Given the description of an element on the screen output the (x, y) to click on. 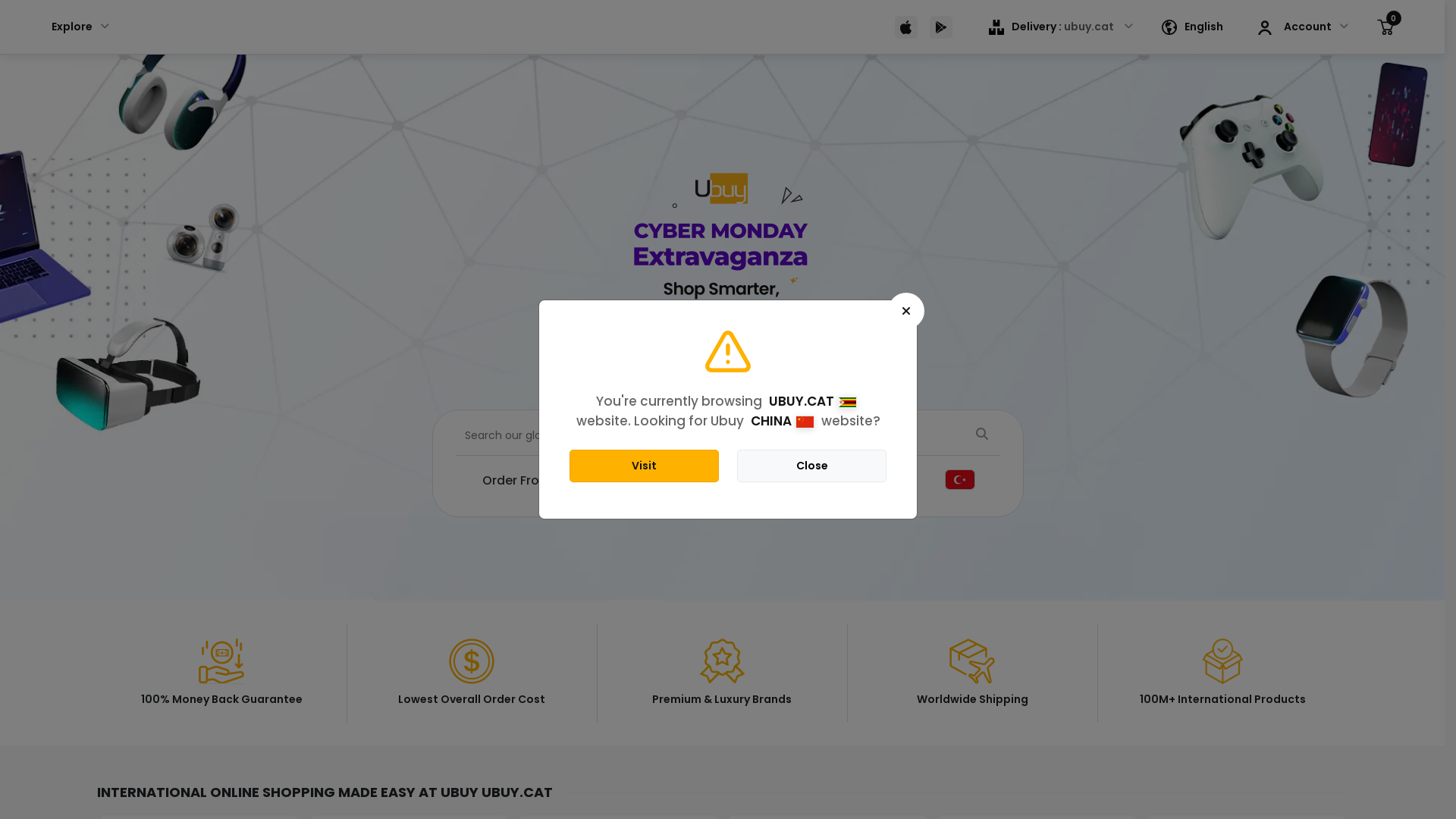
Search Element type: hover (727, 435)
Play Store Element type: hover (940, 26)
App Store Element type: hover (905, 26)
0 Element type: text (1385, 26)
Visit Element type: text (643, 465)
